Given the description of an element on the screen output the (x, y) to click on. 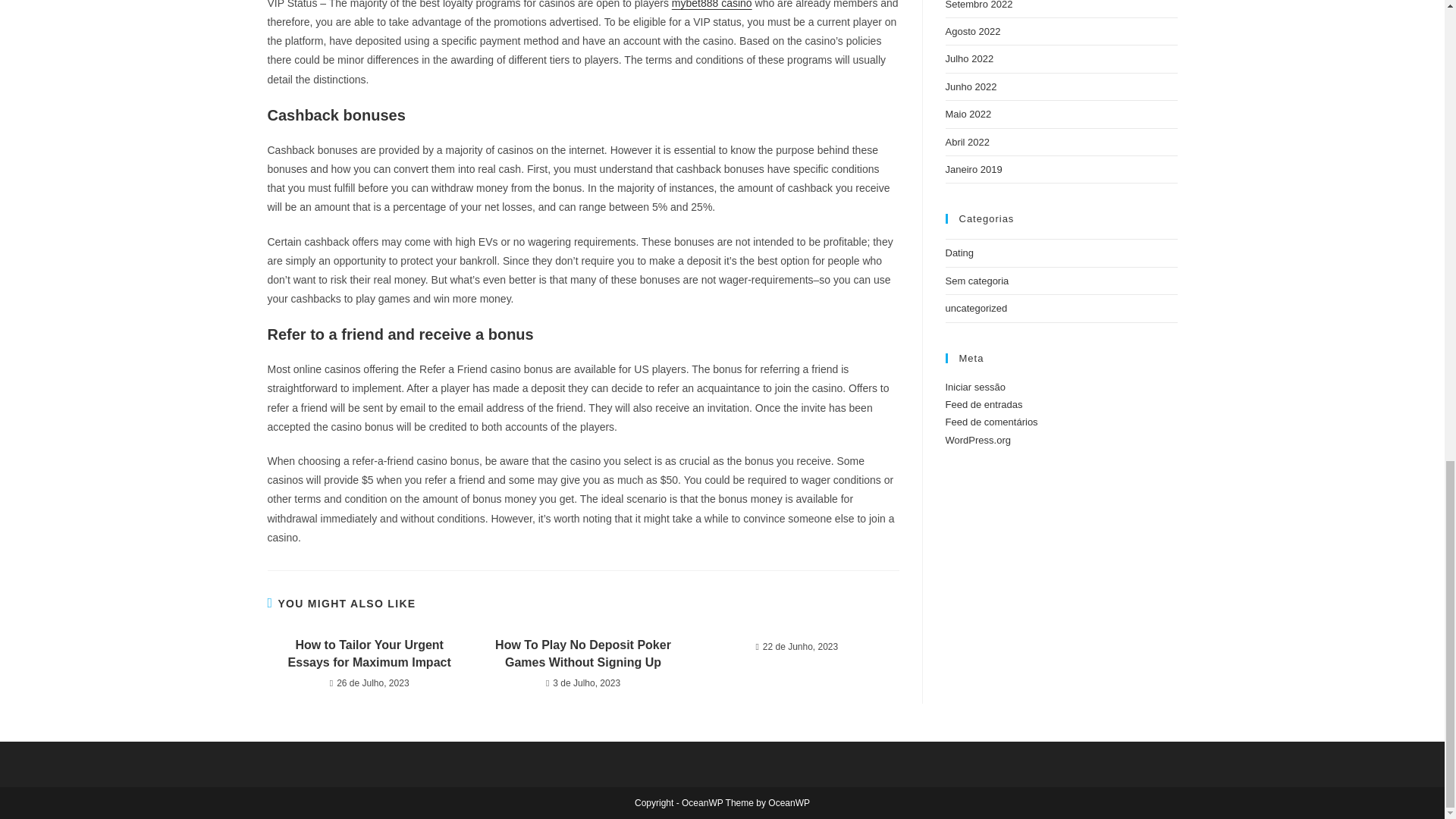
How to Tailor Your Urgent Essays for Maximum Impact (368, 653)
mybet888 casino (711, 4)
How To Play No Deposit Poker Games Without Signing Up (582, 653)
